Given the description of an element on the screen output the (x, y) to click on. 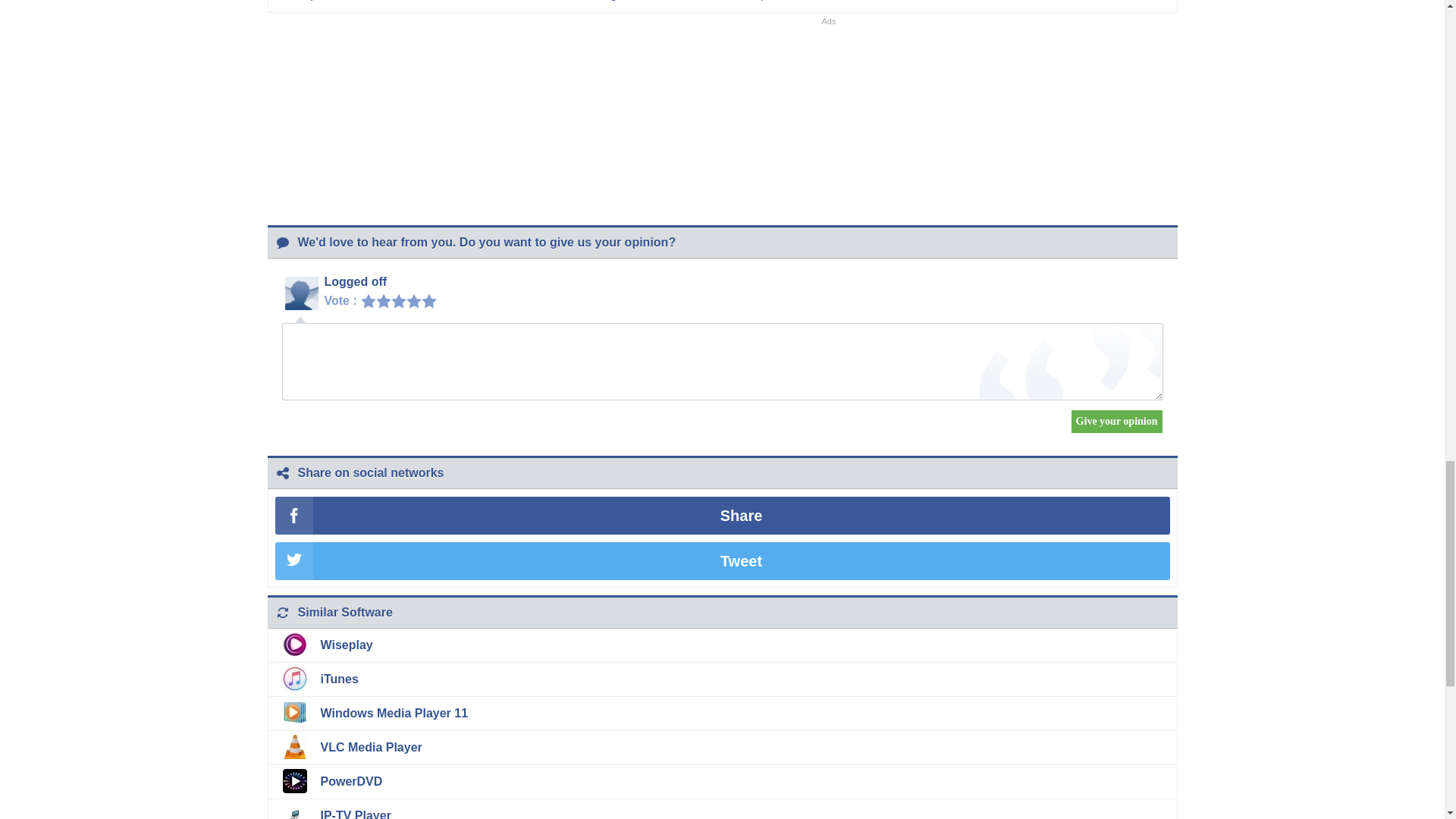
Portuguese (611, 0)
Spanish (323, 0)
German (397, 0)
Give your opinion (1116, 421)
Russian (694, 0)
Japanese (773, 0)
